Given the description of an element on the screen output the (x, y) to click on. 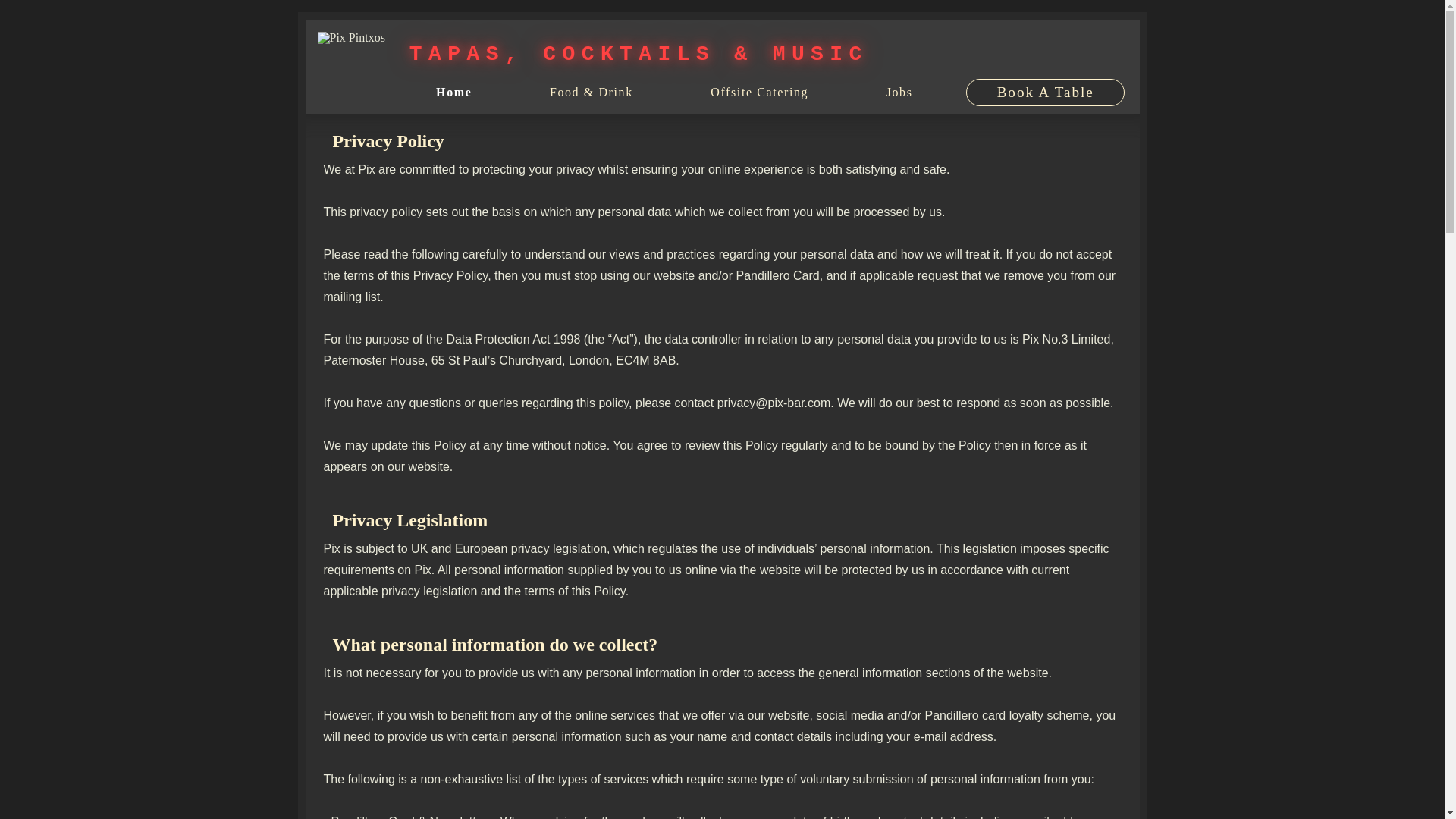
Offsite Catering (759, 92)
Home (454, 92)
Pix Pintxos (350, 37)
Book A Table (1045, 92)
Jobs (898, 92)
